Given the description of an element on the screen output the (x, y) to click on. 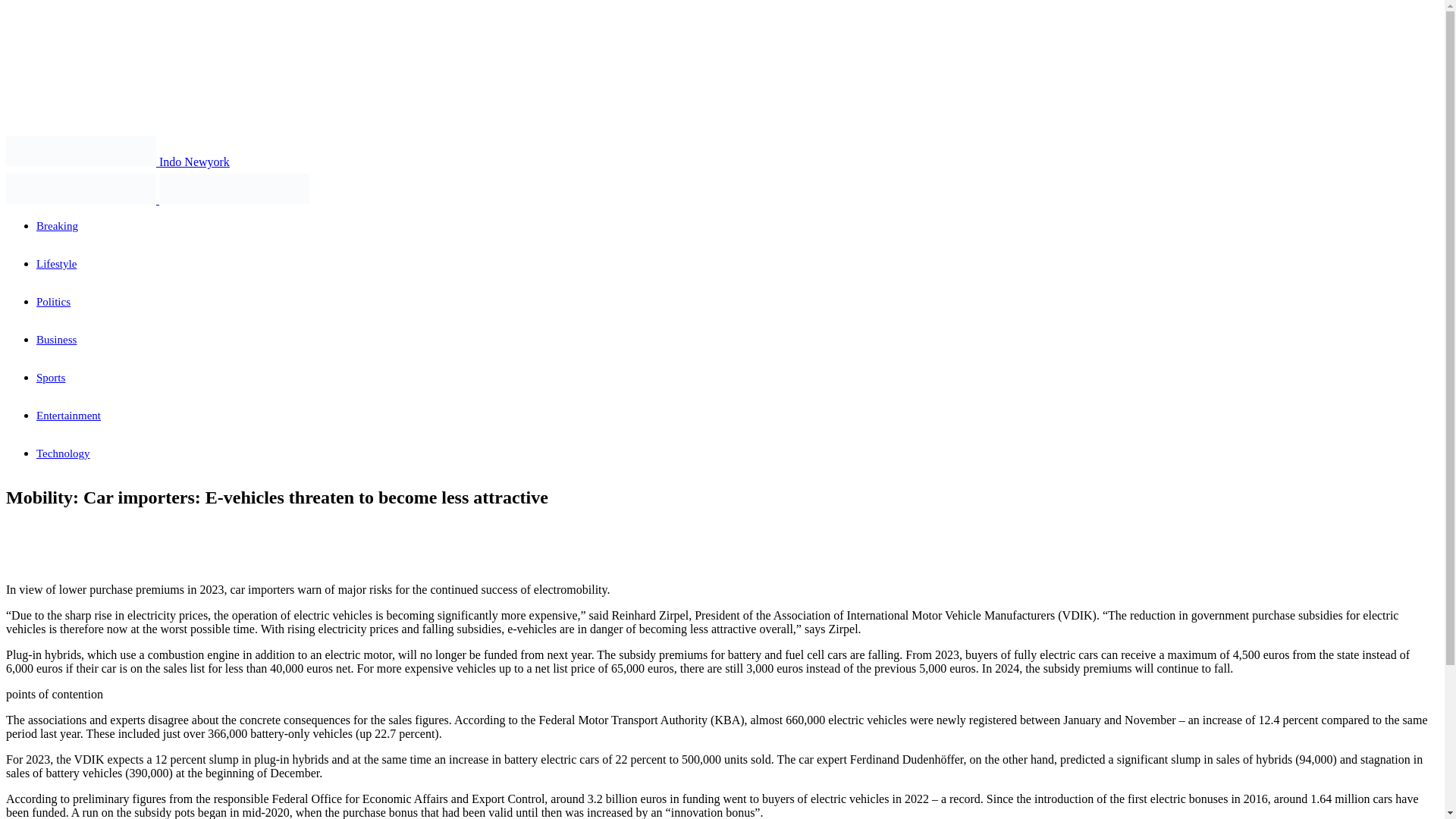
Breaking (57, 225)
Business (56, 339)
Lifestyle (56, 263)
Technology (63, 453)
Indo Newyork (117, 161)
Sports (50, 377)
Entertainment (68, 415)
Politics (52, 301)
